Given the description of an element on the screen output the (x, y) to click on. 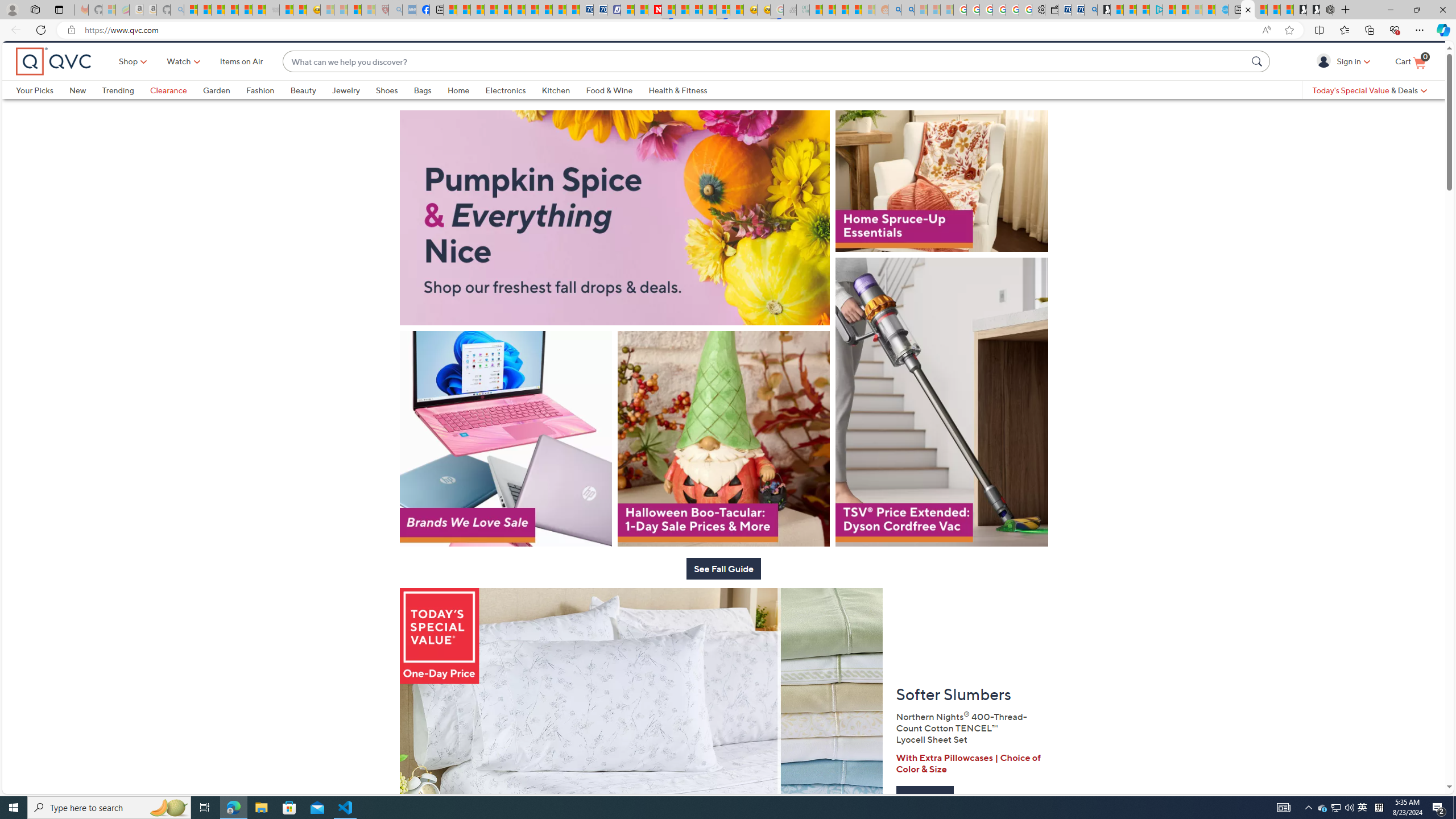
Utah sues federal government - Search (907, 9)
This site has coupons! Shopping in Microsoft Edge, 16 (1198, 29)
14 Common Myths Debunked By Scientific Facts (682, 9)
Wallet (1050, 9)
New (84, 109)
Bing Real Estate - Home sales and rental listings (1090, 9)
Celebrating Women 50+ in The Age of Possibility. Learn More (723, 51)
Student Loan Update: Forgiveness Program Ends This Month (855, 9)
Home Spruce-Up Essentials (941, 215)
